Given the description of an element on the screen output the (x, y) to click on. 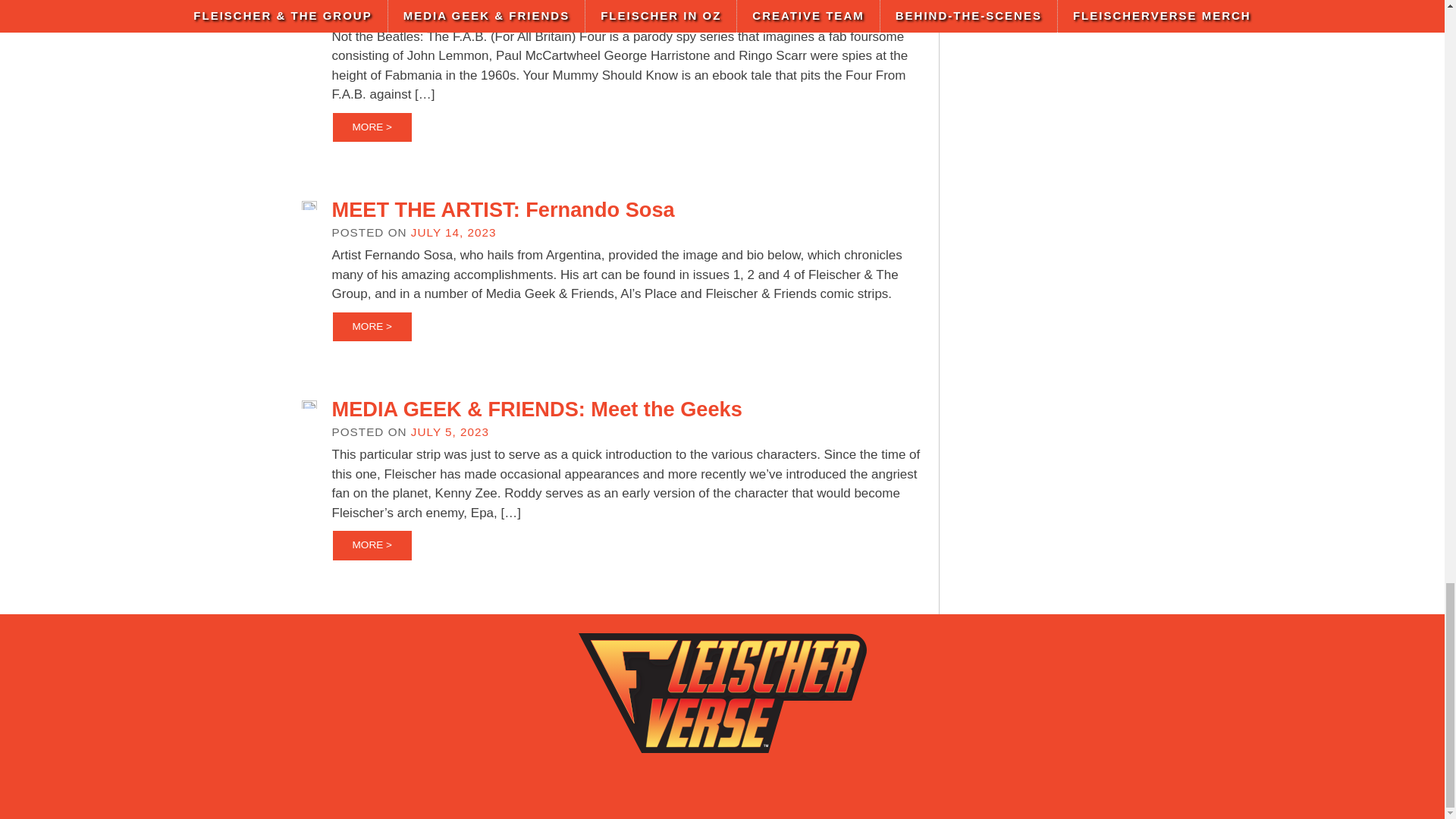
JULY 14, 2023 (453, 232)
JULY 19, 2023 (453, 13)
MEET THE ARTIST: Fernando Sosa (503, 209)
